Given the description of an element on the screen output the (x, y) to click on. 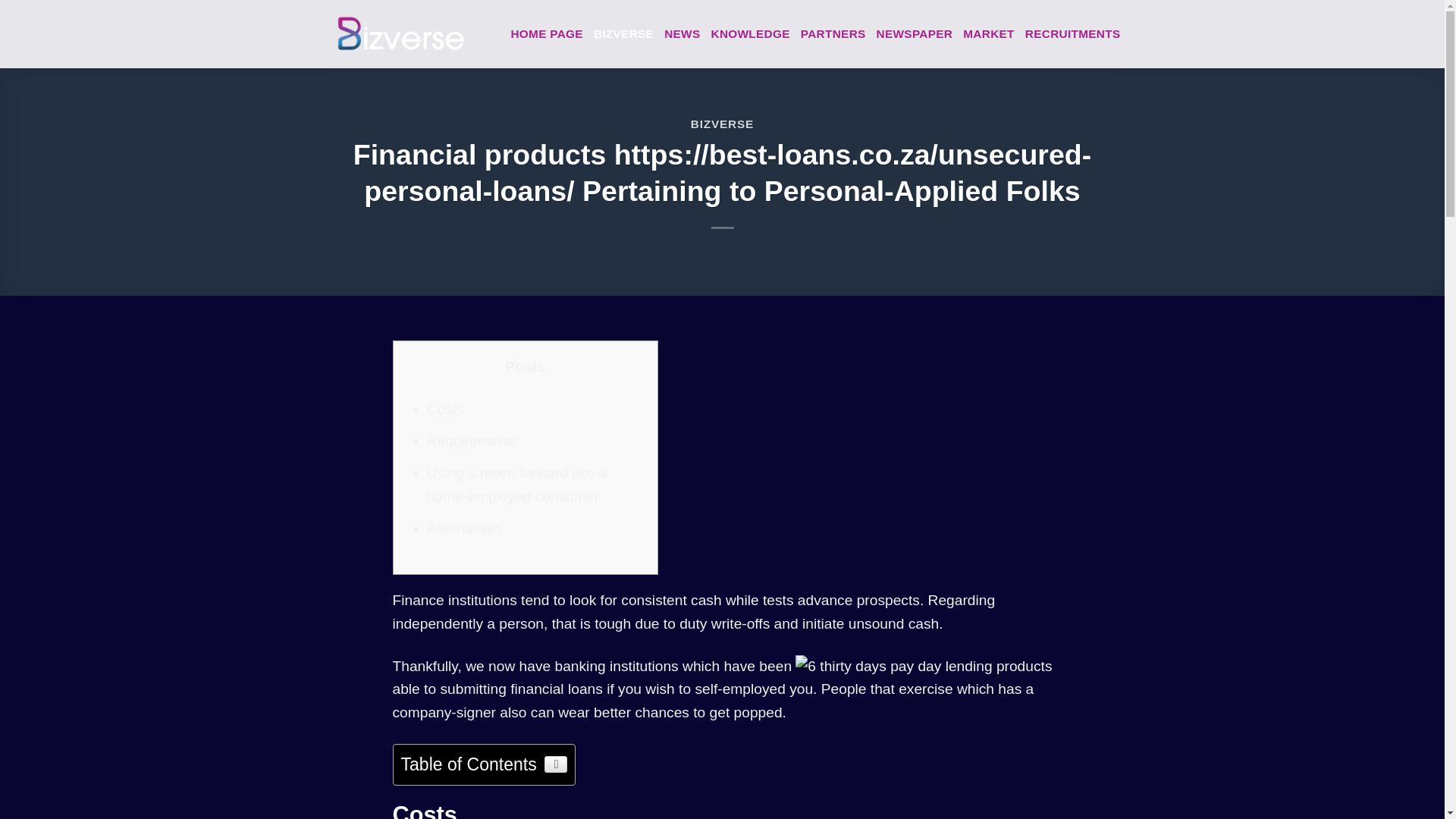
MARKET (988, 34)
Alternatives (464, 528)
NEWSPAPER (914, 34)
BIZVERSE (722, 123)
PARTNERS (833, 34)
HOME PAGE (547, 34)
BIZVERSE (623, 34)
Requirements (471, 440)
RECRUITMENTS (1073, 34)
